Given the description of an element on the screen output the (x, y) to click on. 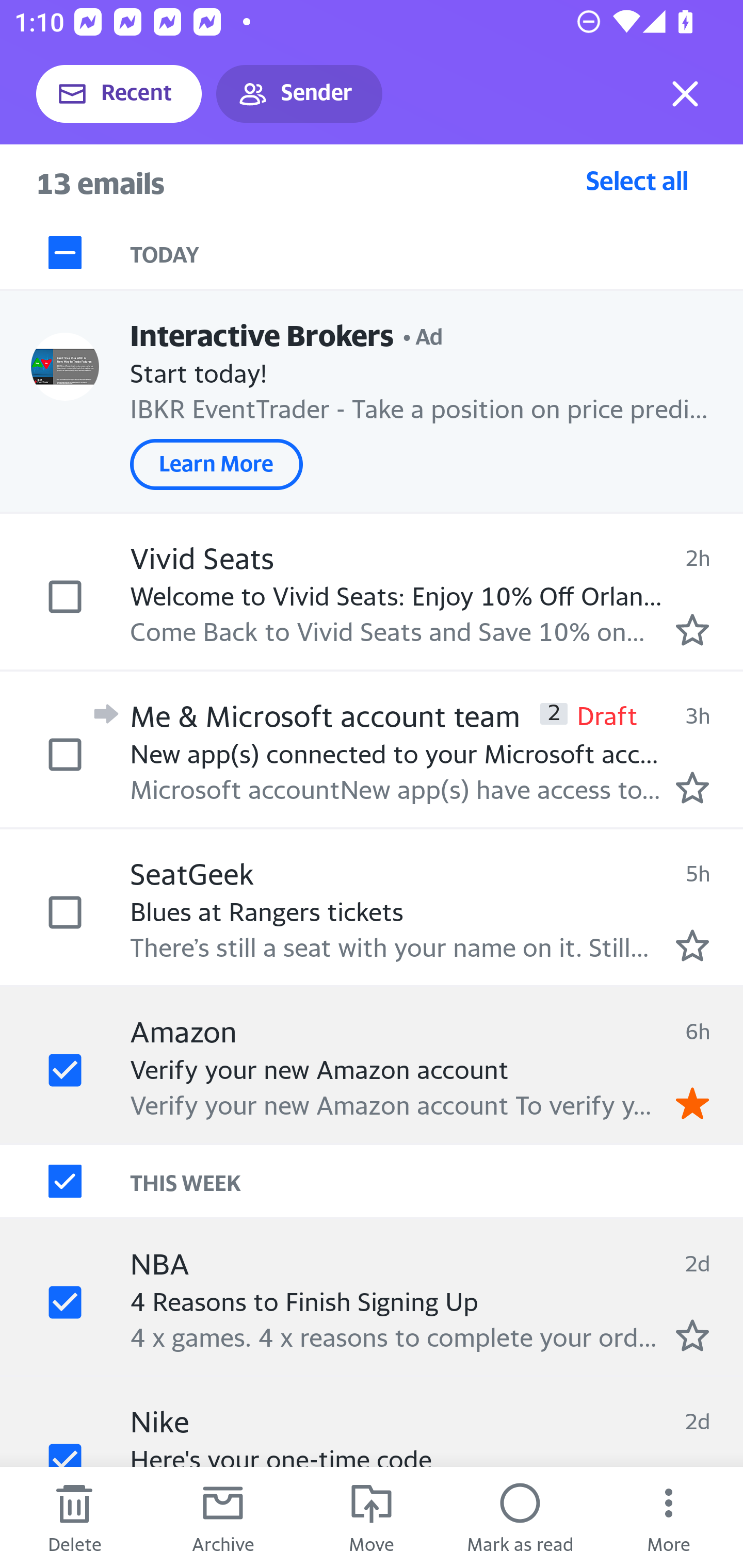
Sender (299, 93)
Exit selection mode (684, 93)
Select all (637, 180)
TODAY (436, 252)
Mark as starred. (692, 629)
Mark as starred. (692, 787)
Mark as starred. (692, 944)
Remove star. (692, 1103)
THIS WEEK (436, 1181)
Mark as starred. (692, 1335)
Delete (74, 1517)
Archive (222, 1517)
Move (371, 1517)
Mark as read (519, 1517)
More (668, 1517)
